Given the description of an element on the screen output the (x, y) to click on. 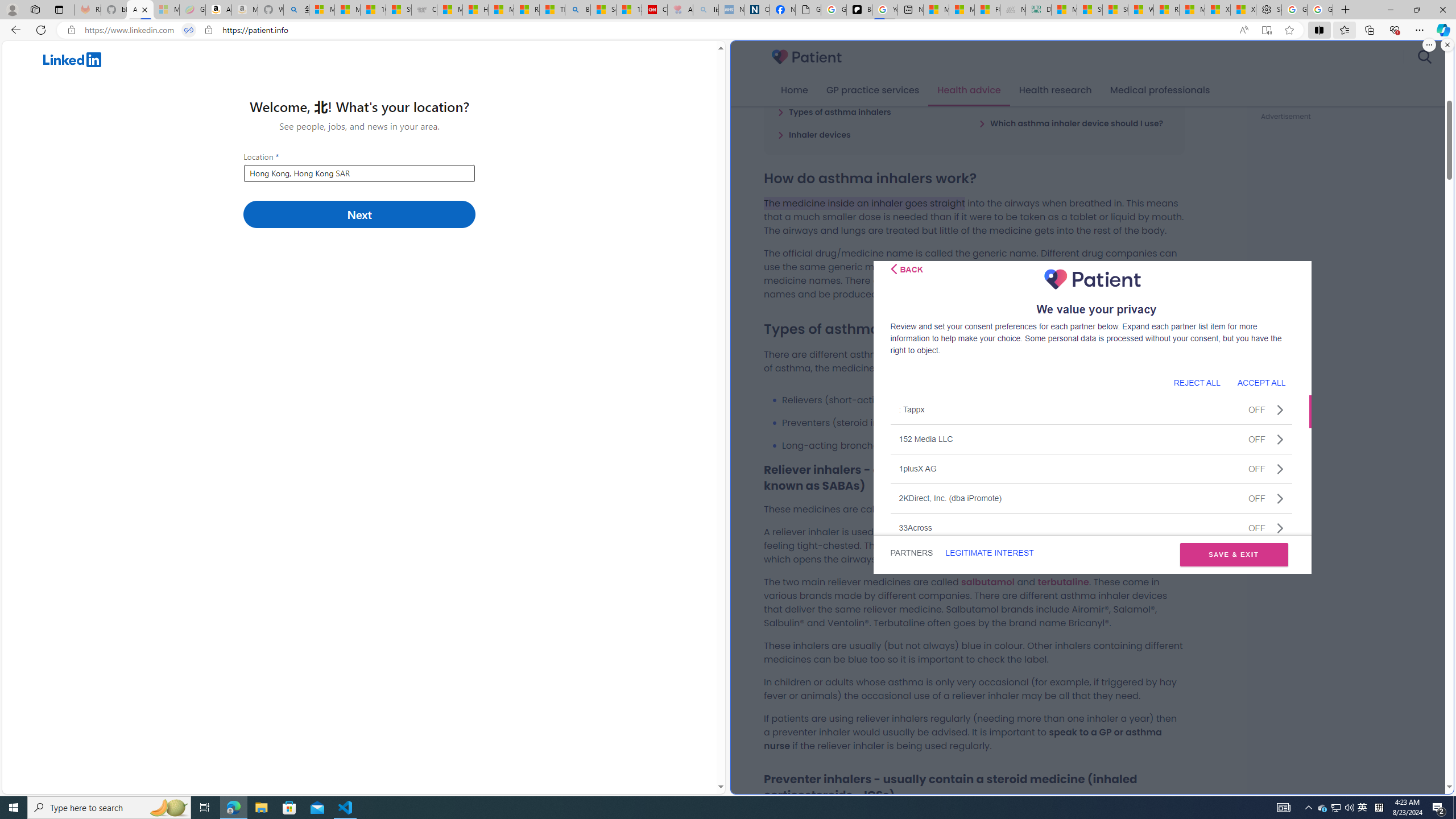
REJECT ALL (1196, 382)
Publisher Logo (1092, 278)
ACCEPT ALL (1261, 382)
LEGITIMATE INTEREST (988, 552)
Medical professionals (1160, 90)
Patient 3.0 (807, 56)
